Given the description of an element on the screen output the (x, y) to click on. 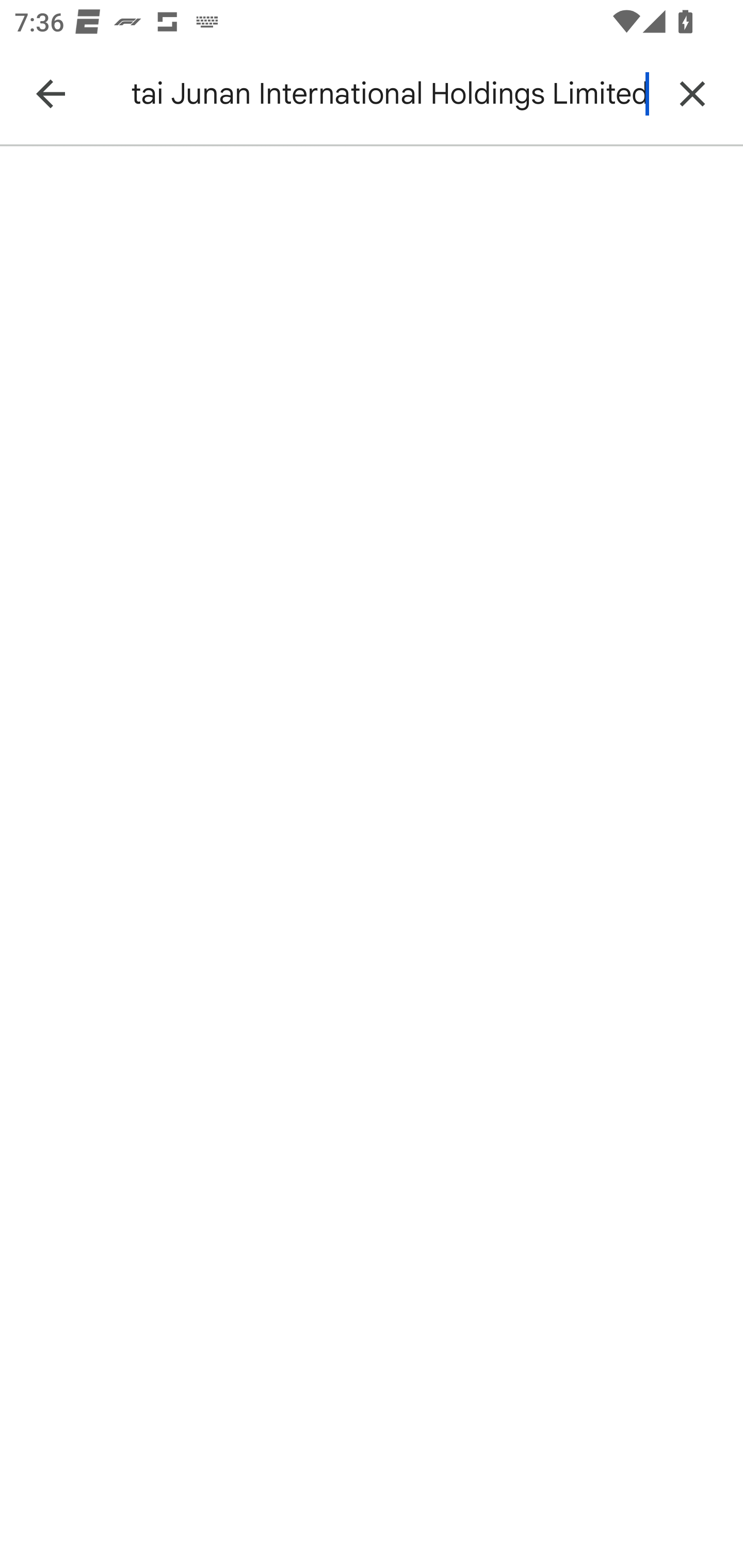
Navigate up (50, 93)
pub:Guotai Junan International Holdings Limited (389, 93)
Clear (692, 93)
